Given the description of an element on the screen output the (x, y) to click on. 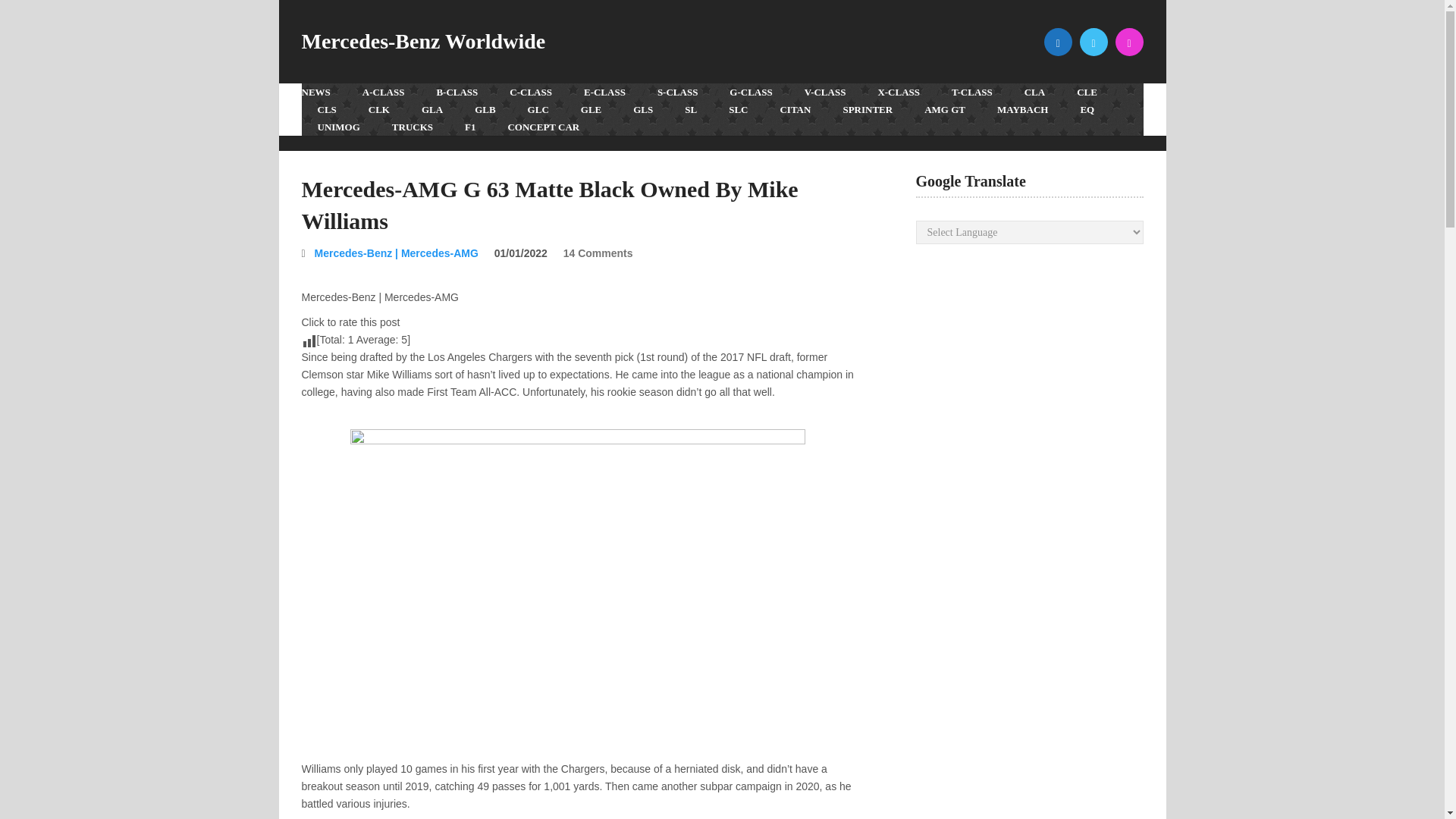
SPRINTER (867, 108)
CLE (1087, 91)
SLC (737, 108)
GLS (642, 108)
CLS (326, 108)
CONCEPT CAR (543, 126)
GLE (590, 108)
A-Class (383, 91)
S-CLASS (677, 91)
NEWS (323, 91)
B-Class (456, 91)
GLA (432, 108)
14 Comments (598, 253)
V-Class (825, 91)
General News (323, 91)
